Given the description of an element on the screen output the (x, y) to click on. 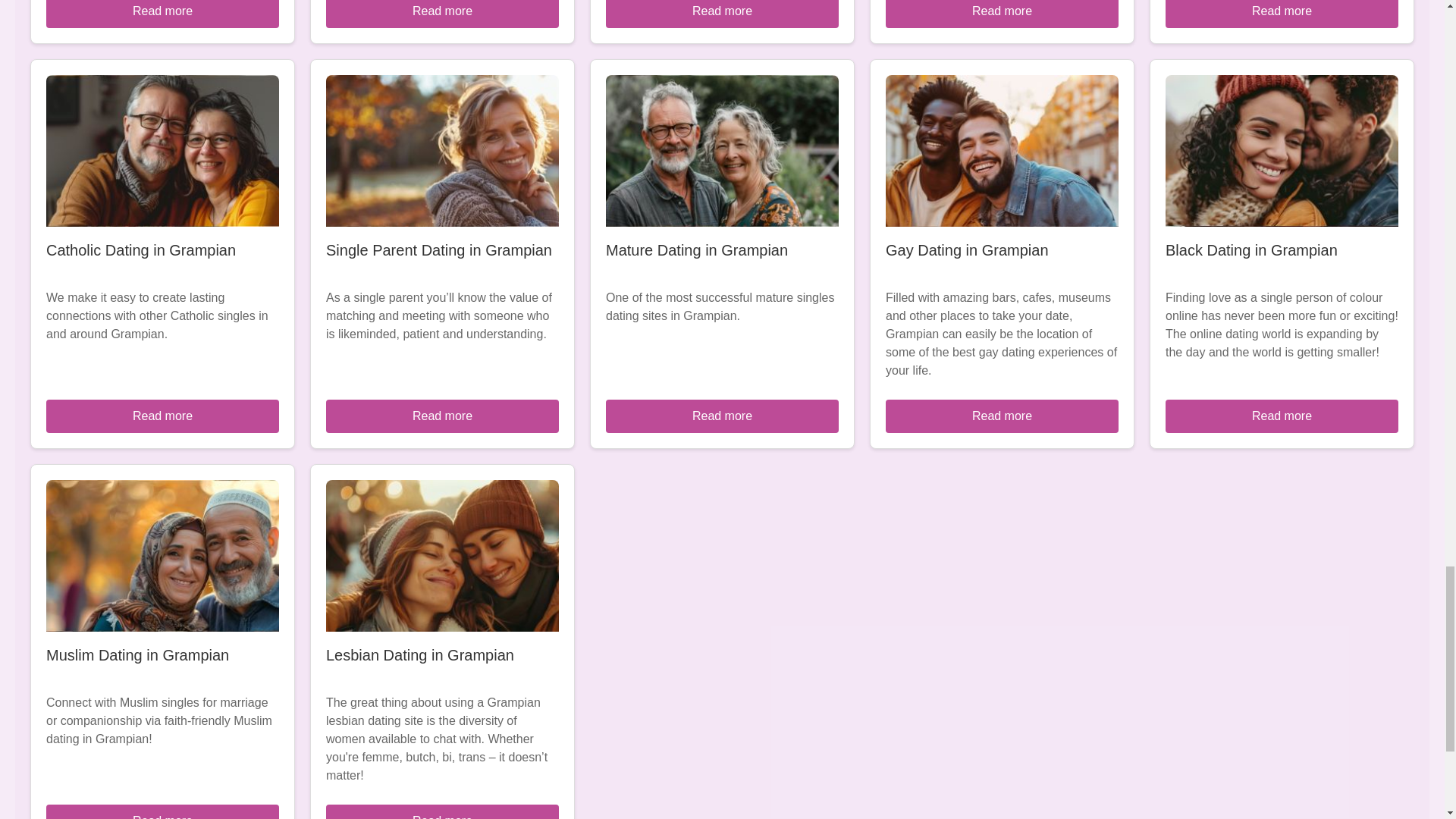
Read more (162, 811)
Read more (442, 13)
Read more (1001, 13)
Read more (1281, 13)
Read more (442, 416)
Read more (442, 811)
Read more (1281, 416)
Read more (1001, 416)
Read more (162, 13)
Read more (721, 416)
Read more (162, 416)
Read more (721, 13)
